Given the description of an element on the screen output the (x, y) to click on. 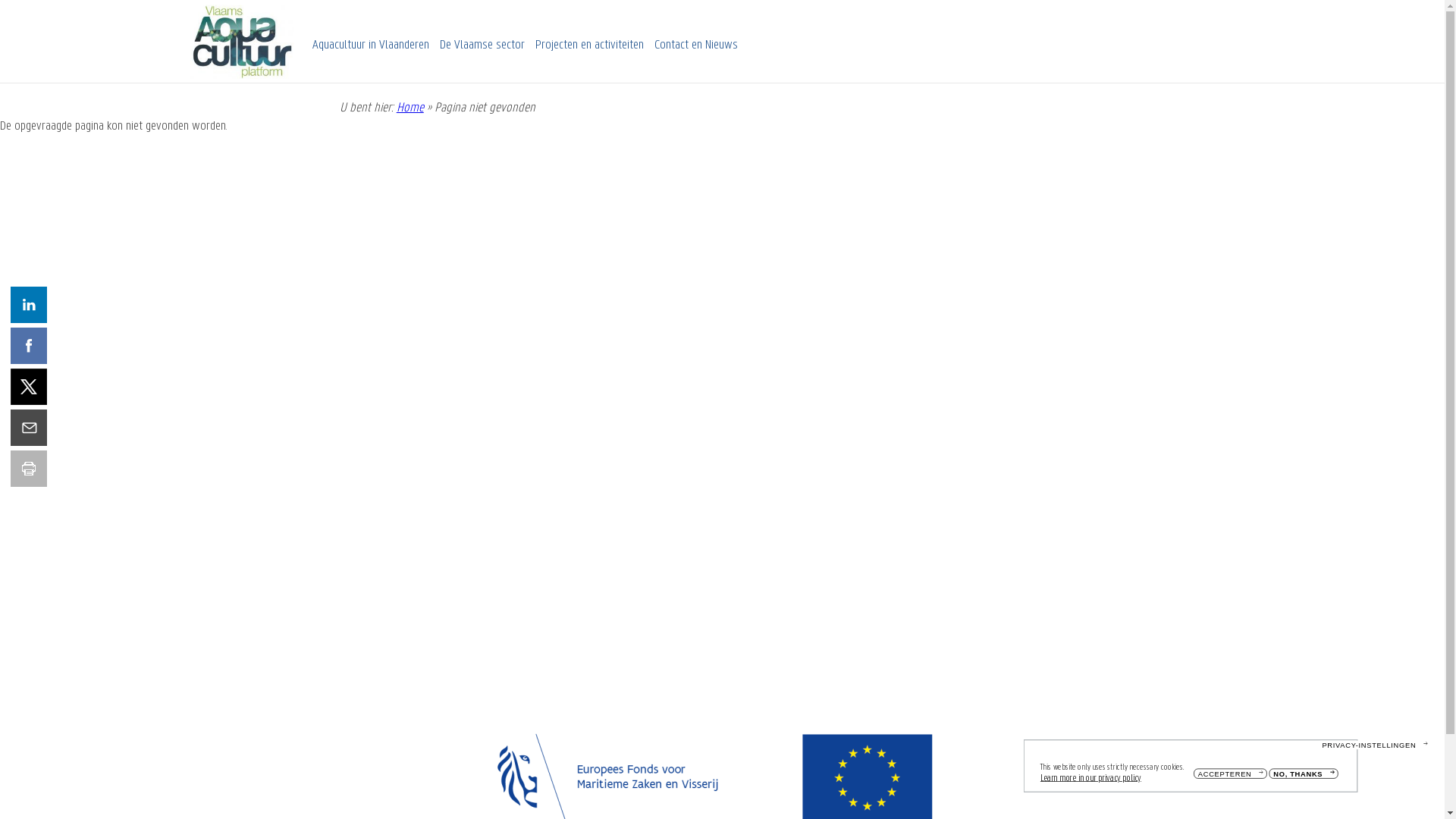
Deel deze pagina op Twitter. Element type: hover (28, 386)
NO, THANKS Element type: text (1318, 775)
Learn more in our privacy policy Element type: text (1112, 780)
Overslaan en naar de inhoud gaan Element type: text (0, 0)
Druk deze pagina af op uw printer. Element type: hover (28, 468)
Deel deze pagina op LinkedIn. Element type: hover (28, 304)
Home Element type: text (409, 107)
Deel deze pagina op Facebook. Element type: hover (28, 345)
Verstuur een link naar deze pagina via mail. Element type: hover (28, 427)
ACCEPTEREN Element type: text (1245, 775)
